Given the description of an element on the screen output the (x, y) to click on. 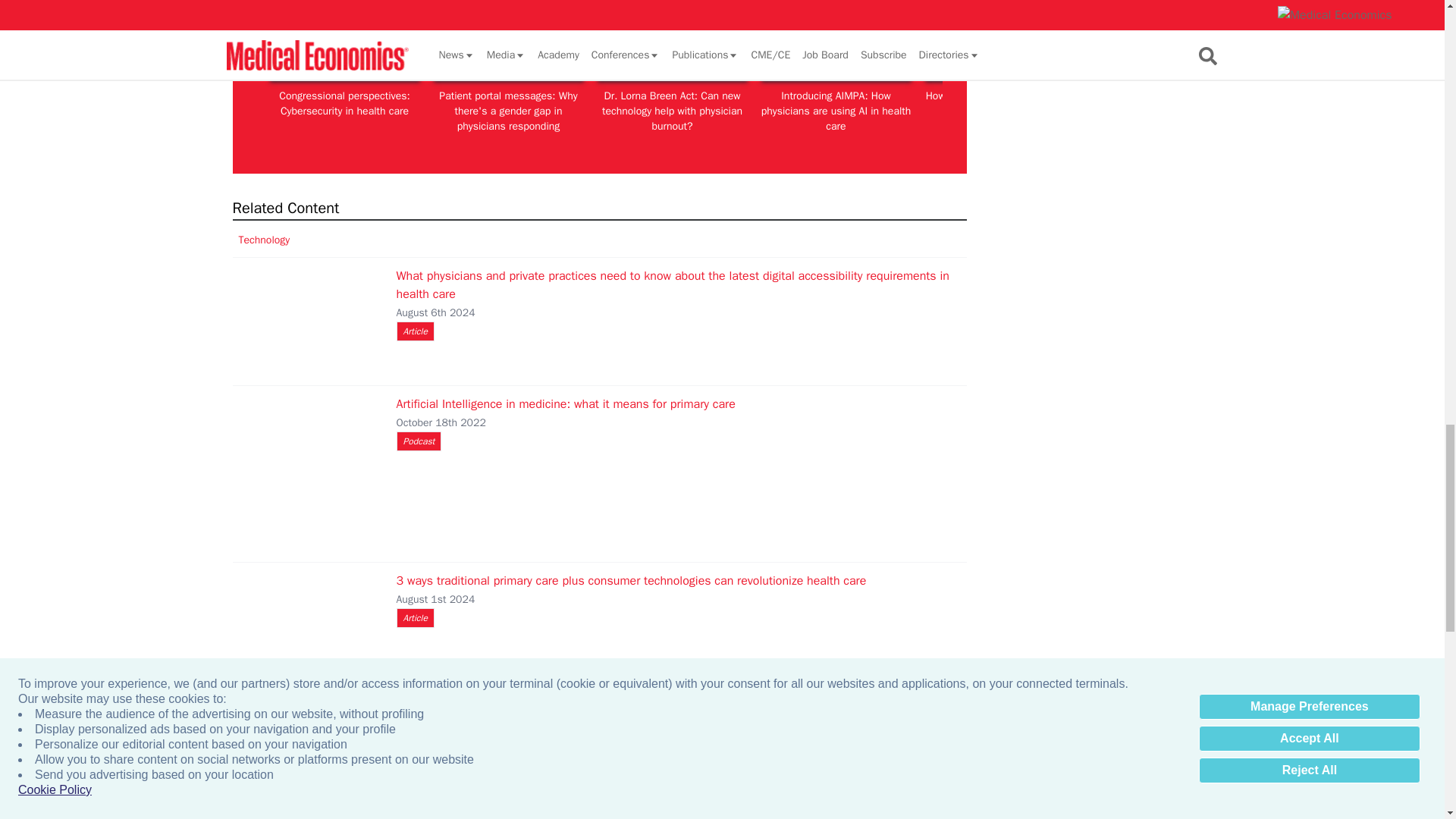
How generative AI will transform health care (999, 39)
Congressional perspectives: Cybersecurity in health care (343, 39)
Kyle Zebley headshot  (1163, 39)
Kyle Zebley headshot (1326, 39)
